Given the description of an element on the screen output the (x, y) to click on. 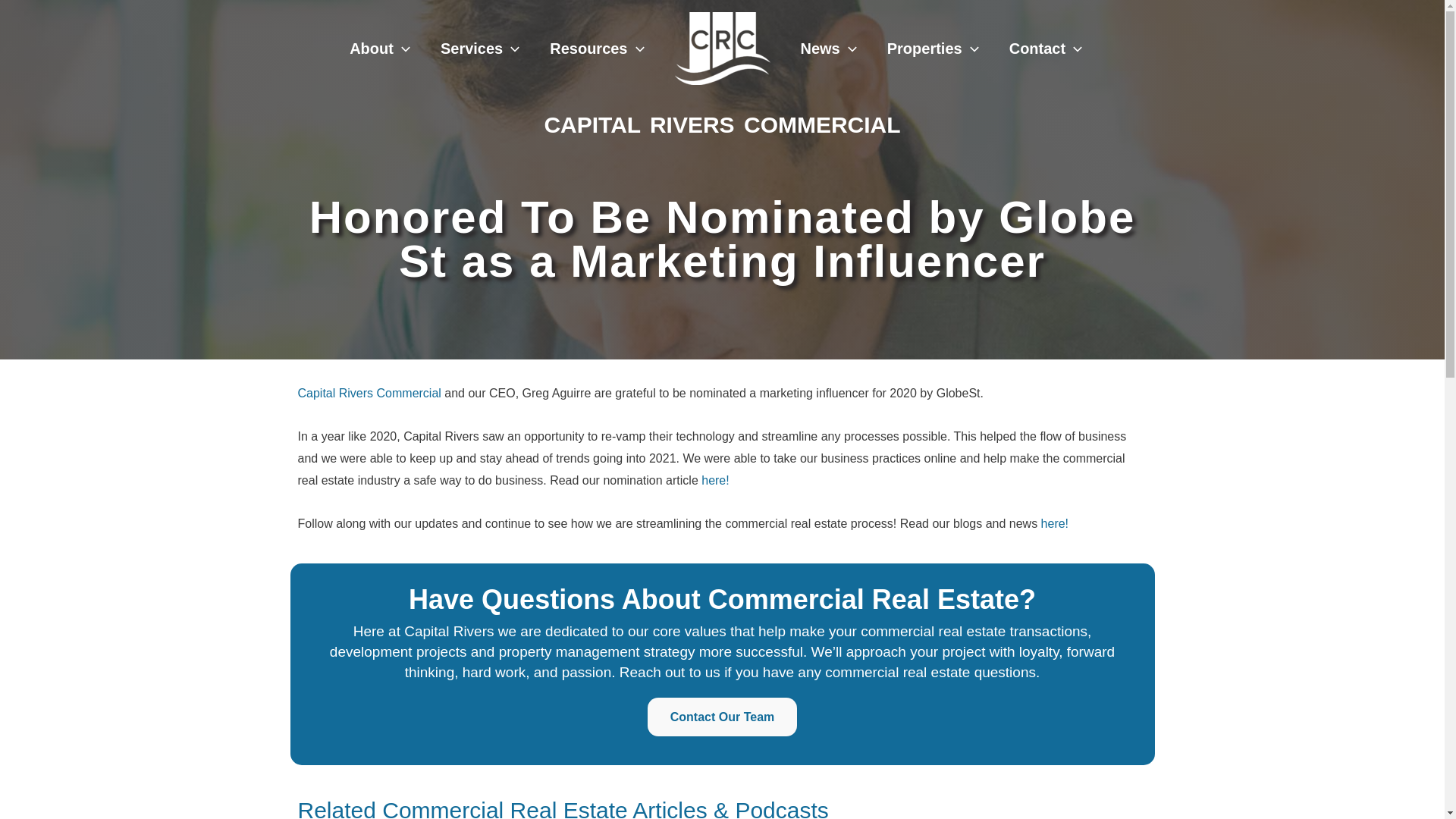
Services (479, 48)
News (829, 48)
Resources (596, 48)
About (379, 48)
Contact (1045, 48)
Properties (933, 48)
